Given the description of an element on the screen output the (x, y) to click on. 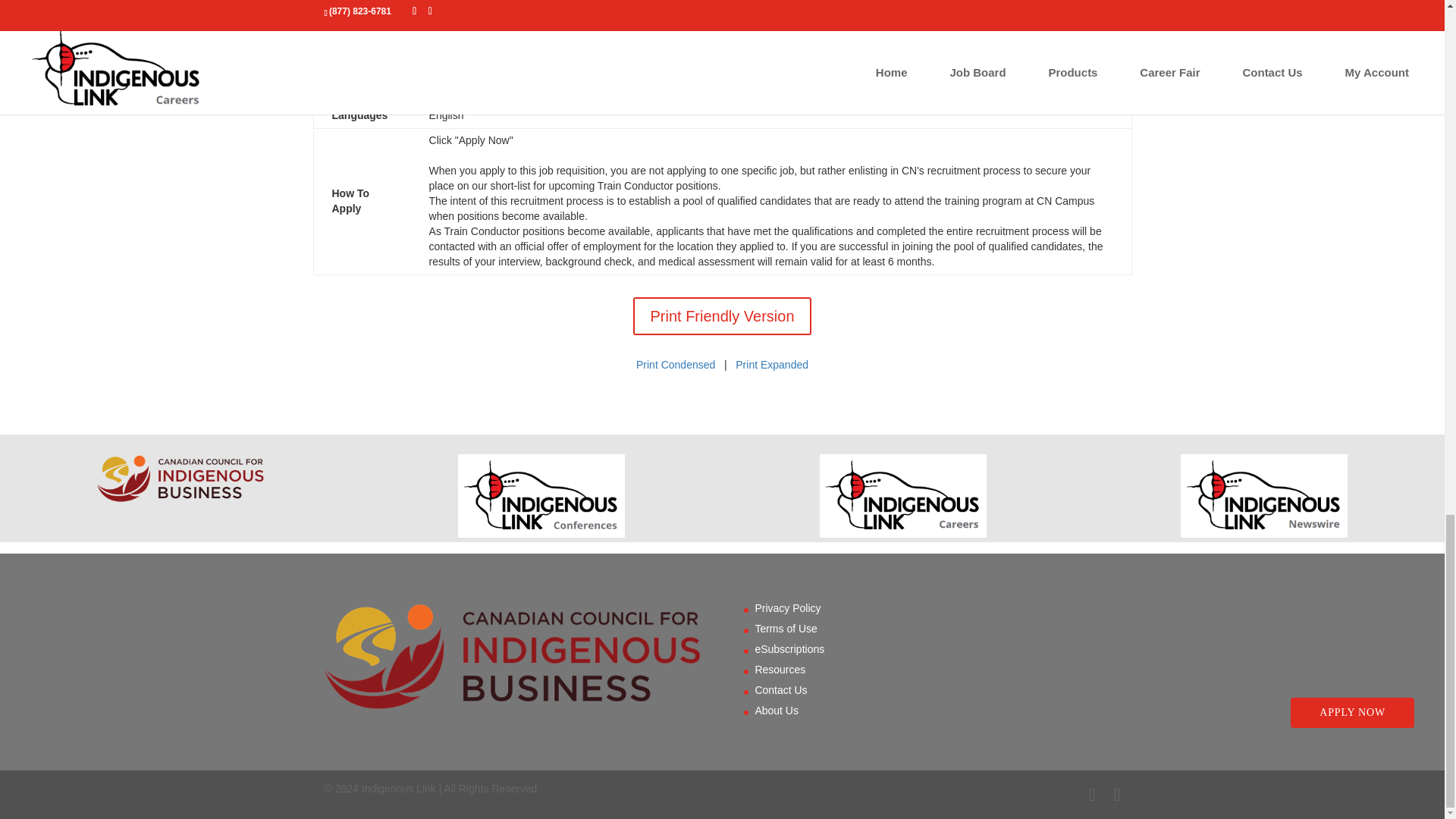
Resources (779, 669)
eSubscriptions (789, 648)
Privacy Policy (787, 607)
About Us (775, 710)
Print Condensed (675, 364)
Contact Us (780, 689)
Print Expanded (771, 364)
Terms of Use (785, 628)
Print Friendly Version (721, 315)
